Given the description of an element on the screen output the (x, y) to click on. 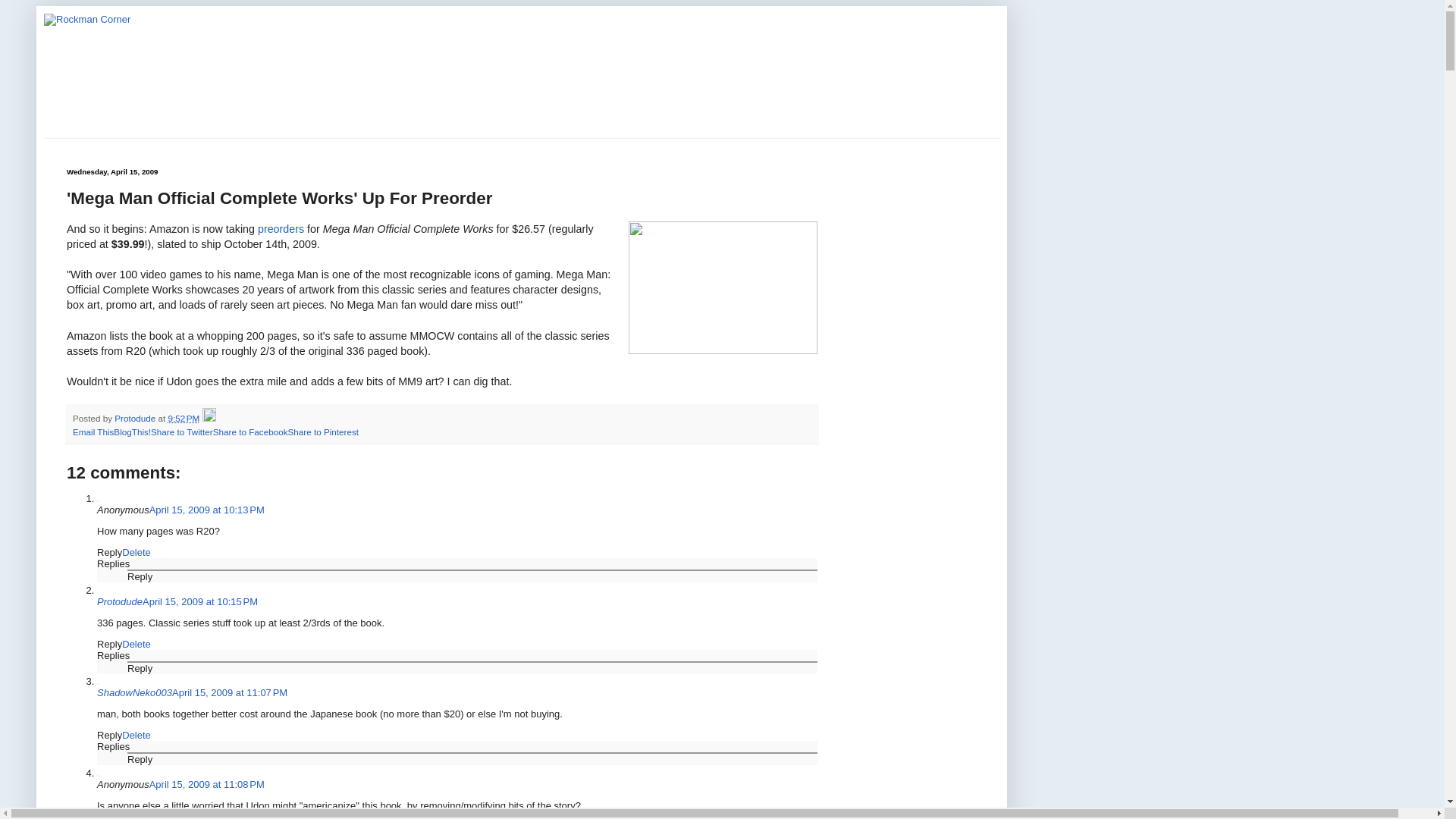
Replies (113, 746)
Share to Twitter (181, 431)
Reply (109, 552)
Share to Facebook (250, 431)
Delete (136, 735)
Reply (109, 644)
Edit Post (208, 418)
Reply (140, 668)
preorders (280, 228)
Reply (109, 735)
ShadowNeko003 (134, 692)
BlogThis! (132, 431)
Email This (92, 431)
Replies (113, 655)
